Given the description of an element on the screen output the (x, y) to click on. 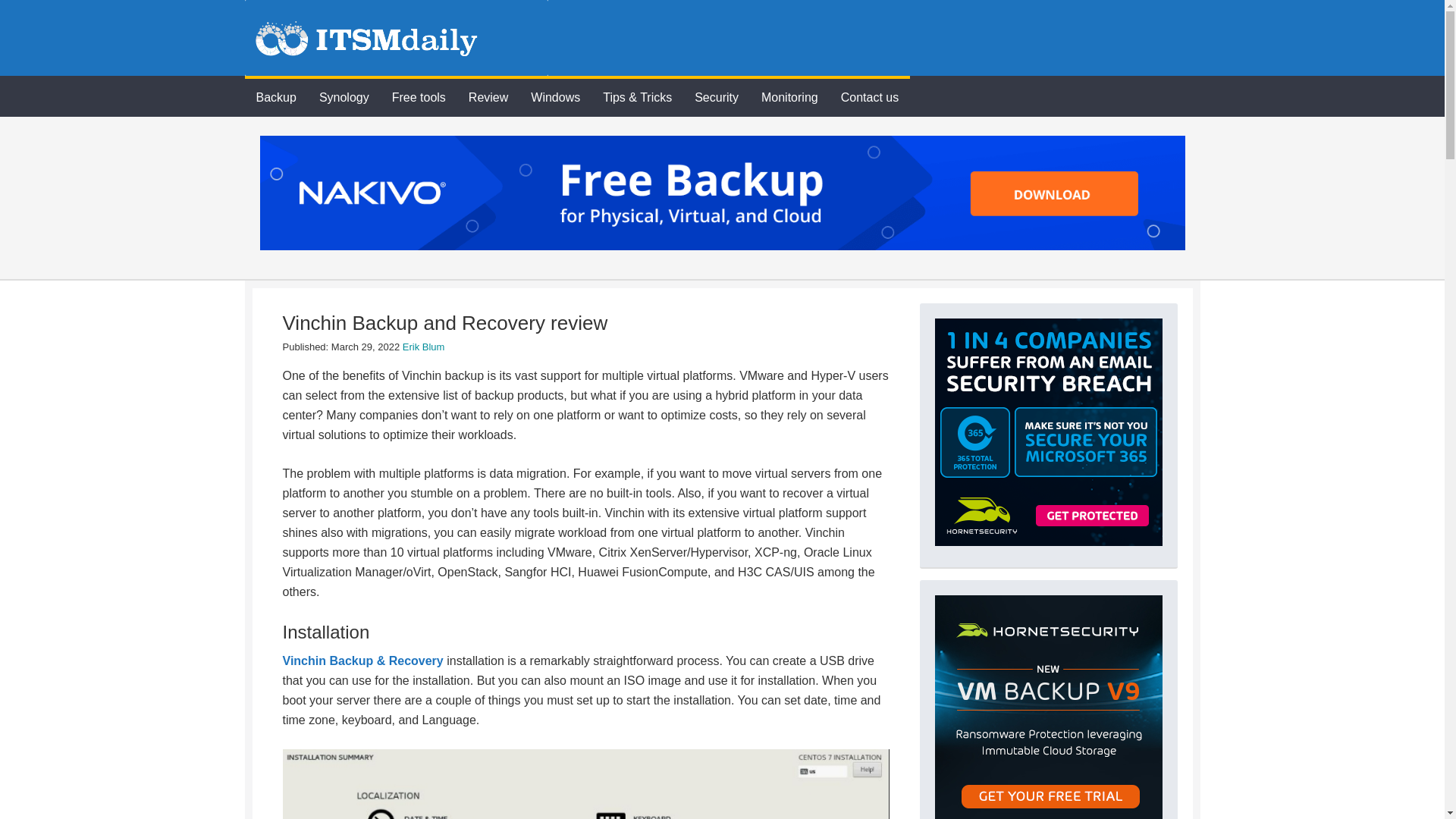
Erik Blum (424, 346)
Windows (555, 96)
Backup (275, 96)
Review (488, 96)
Synology (343, 96)
Contact us (869, 96)
Security (715, 96)
Monitoring (789, 96)
Free tools (418, 96)
ITSMDaily.com (395, 38)
